Given the description of an element on the screen output the (x, y) to click on. 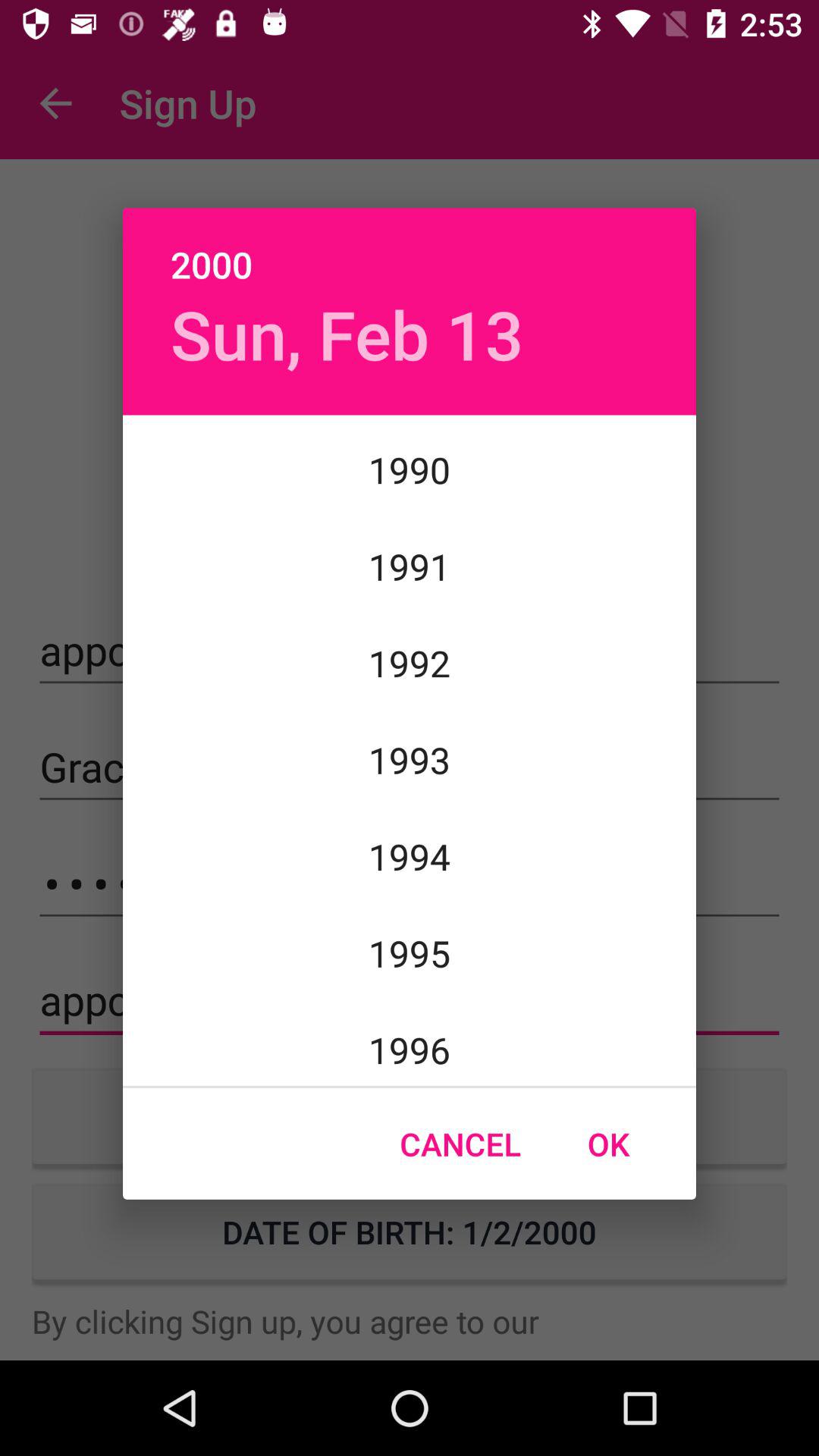
turn off item at the bottom right corner (608, 1143)
